Given the description of an element on the screen output the (x, y) to click on. 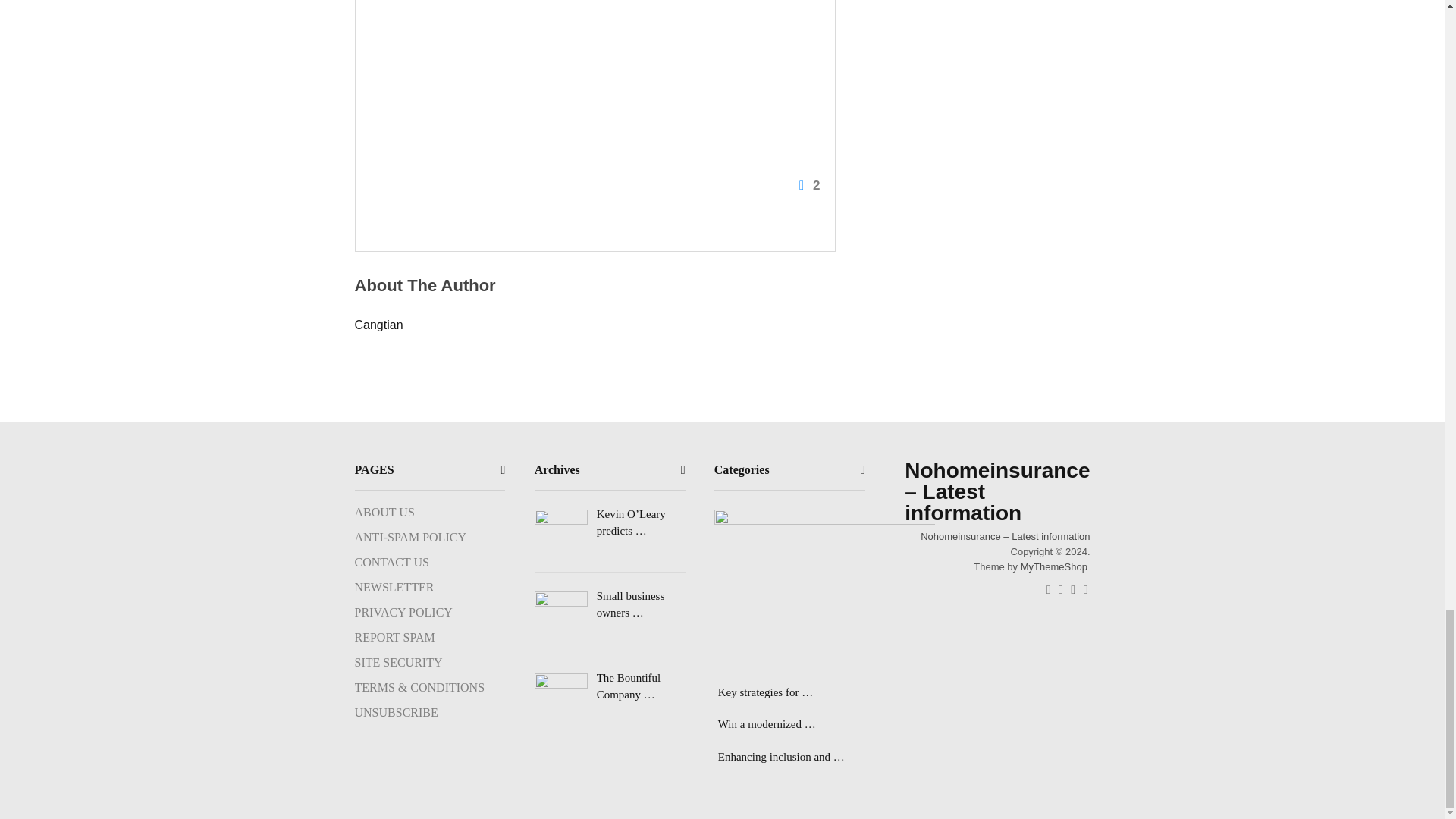
Cangtian (379, 324)
2 (592, 100)
Small business owners say credit crunch post-SVB has arrived (609, 604)
Insurance, Innovation, Automotive, Business, Lifestyle (1004, 536)
MyThemeShop (1053, 566)
